Given the description of an element on the screen output the (x, y) to click on. 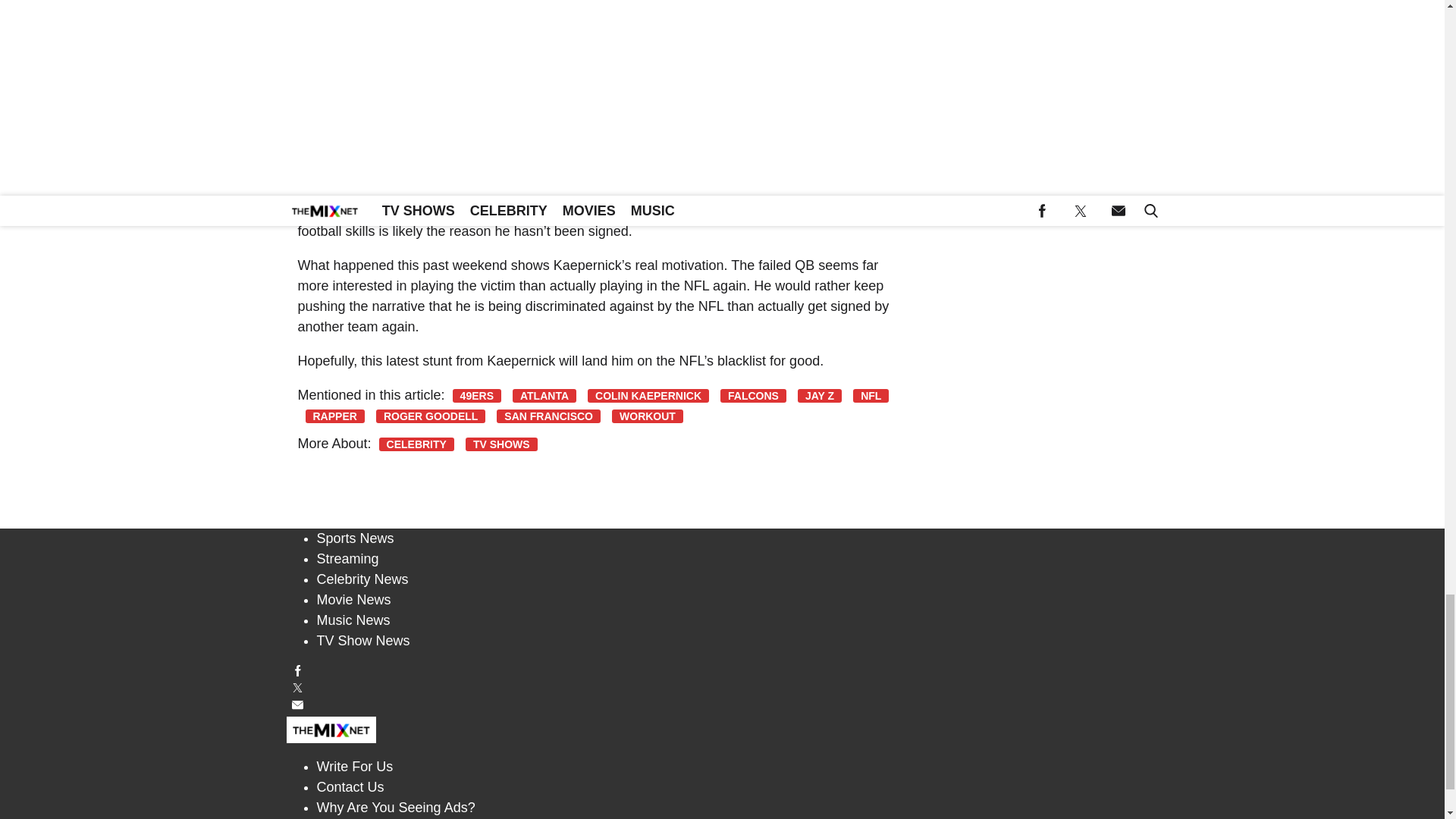
SAN FRANCISCO (547, 416)
Follow us on Facebook (722, 670)
TV SHOWS (501, 444)
Follow us on Twitter (722, 687)
COLIN KAEPERNICK (648, 395)
ATLANTA (544, 395)
JAY Z (819, 395)
WORKOUT (646, 416)
NFL (870, 395)
to protest against racial inequality (443, 135)
